Given the description of an element on the screen output the (x, y) to click on. 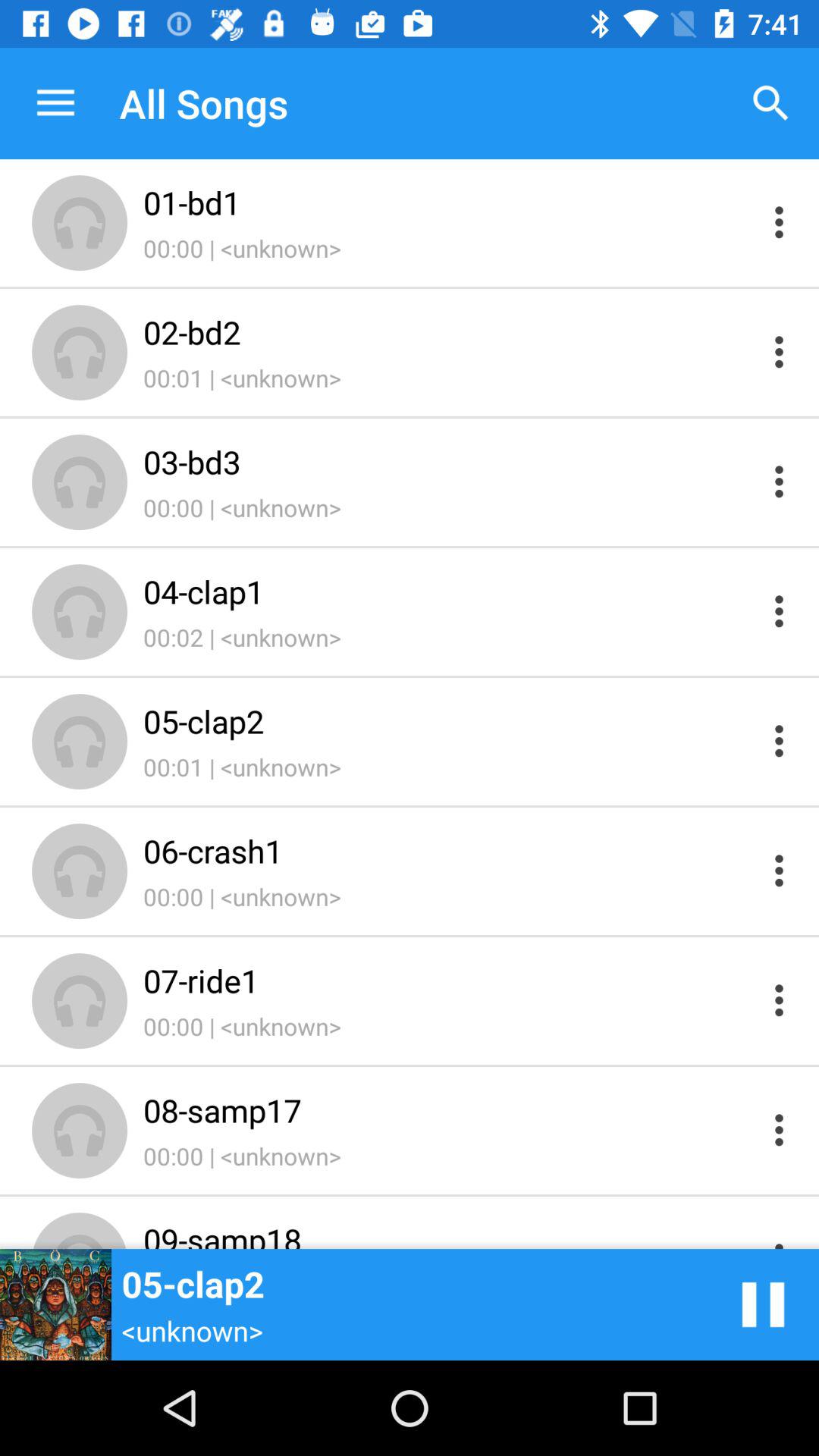
opens a menu (779, 222)
